Given the description of an element on the screen output the (x, y) to click on. 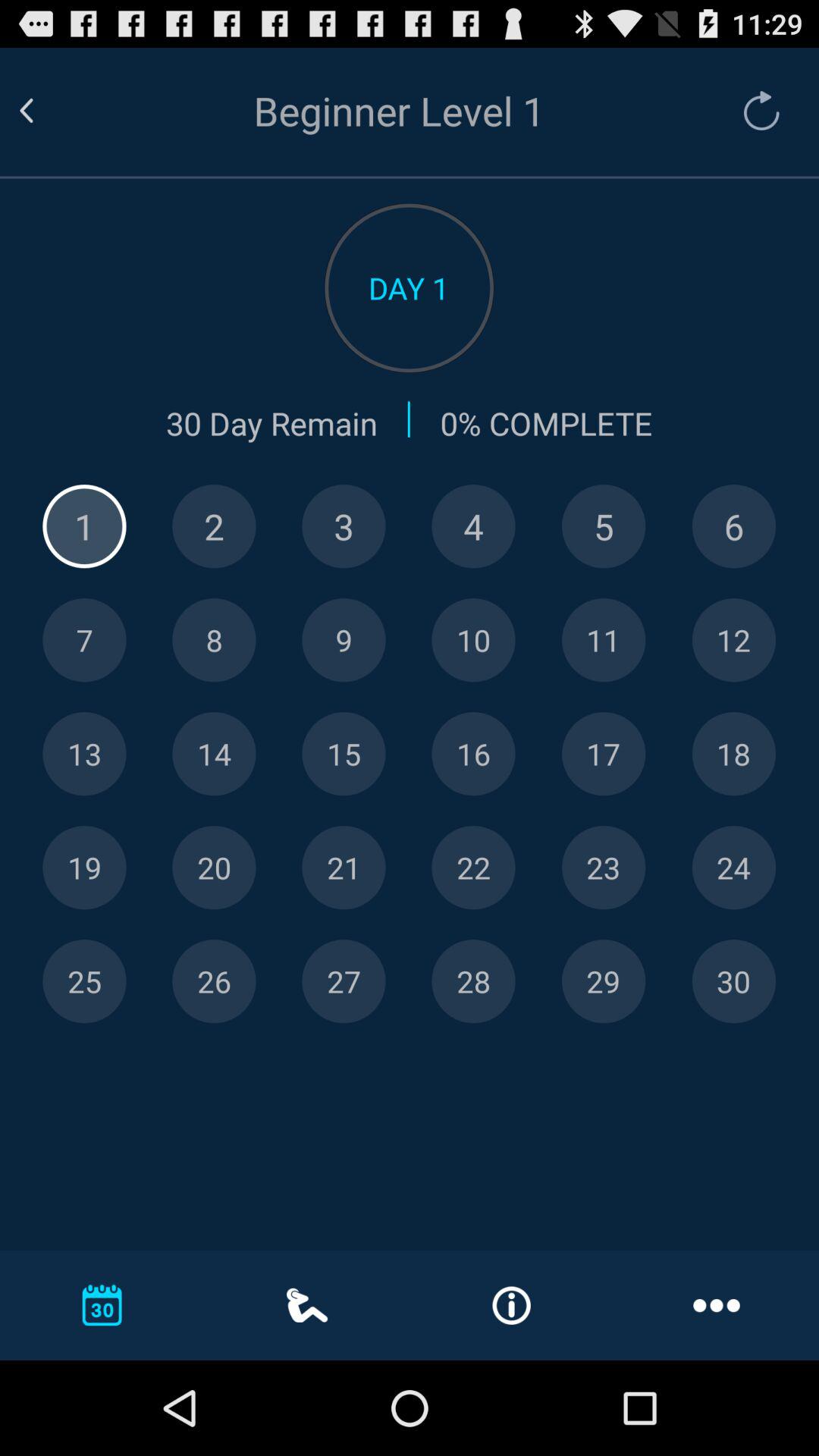
select second row twelve (733, 639)
